Given the description of an element on the screen output the (x, y) to click on. 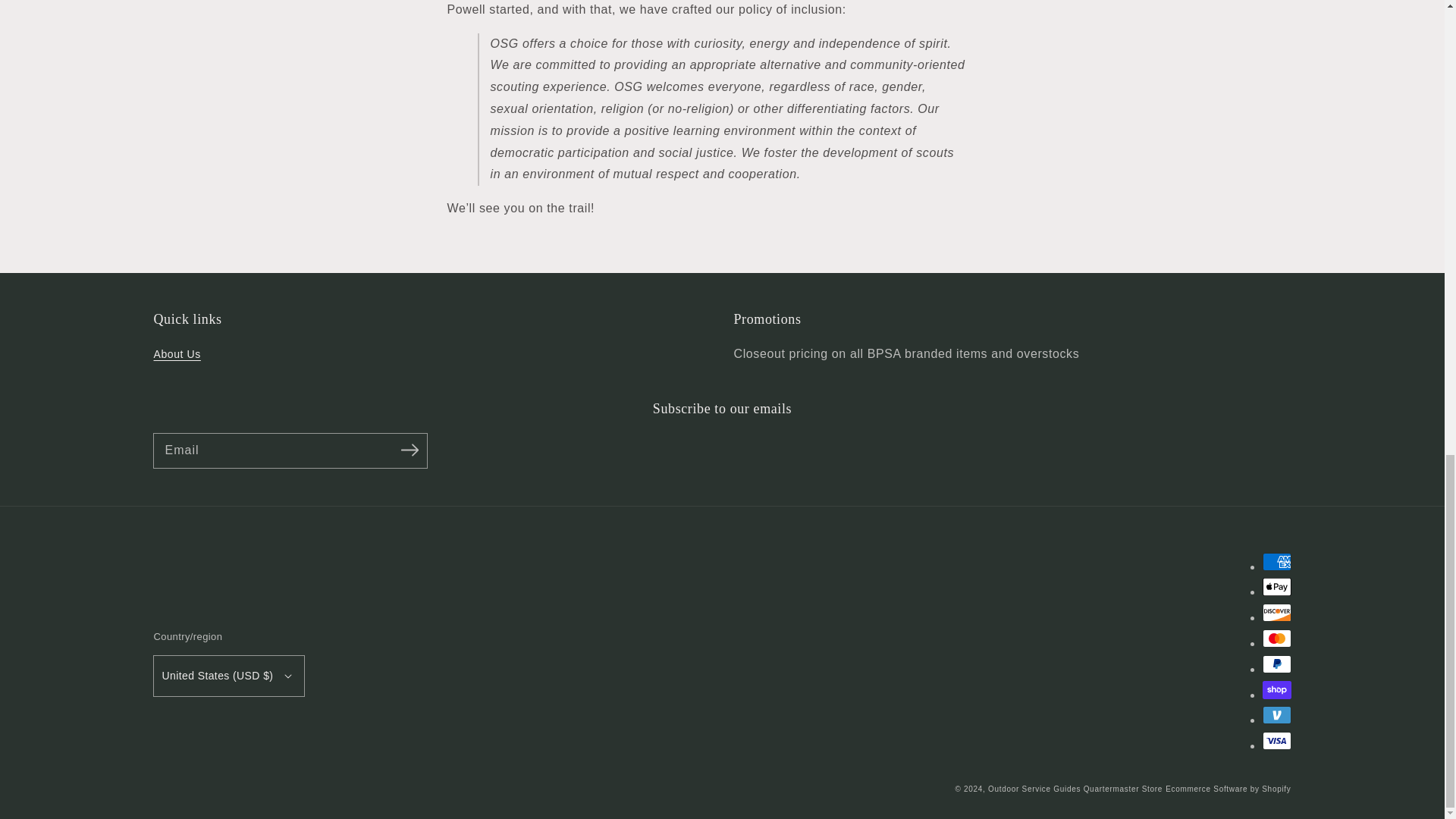
Discover (1276, 612)
Apple Pay (1276, 587)
American Express (1276, 561)
Shop Pay (1276, 689)
Venmo (1276, 714)
PayPal (1276, 664)
Visa (1276, 741)
Mastercard (1276, 638)
